Given the description of an element on the screen output the (x, y) to click on. 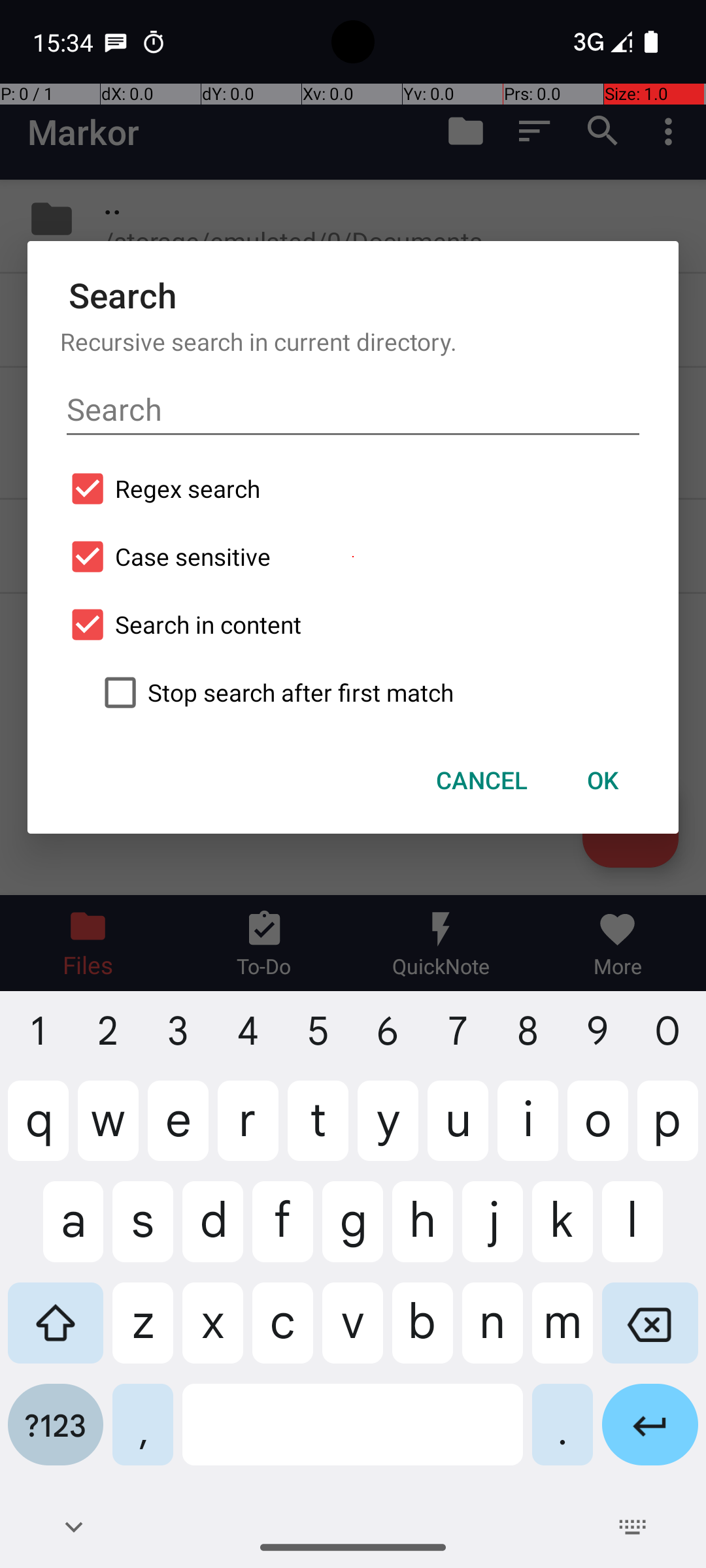
Stop search after first match Element type: android.widget.CheckBox (368, 692)
